Given the description of an element on the screen output the (x, y) to click on. 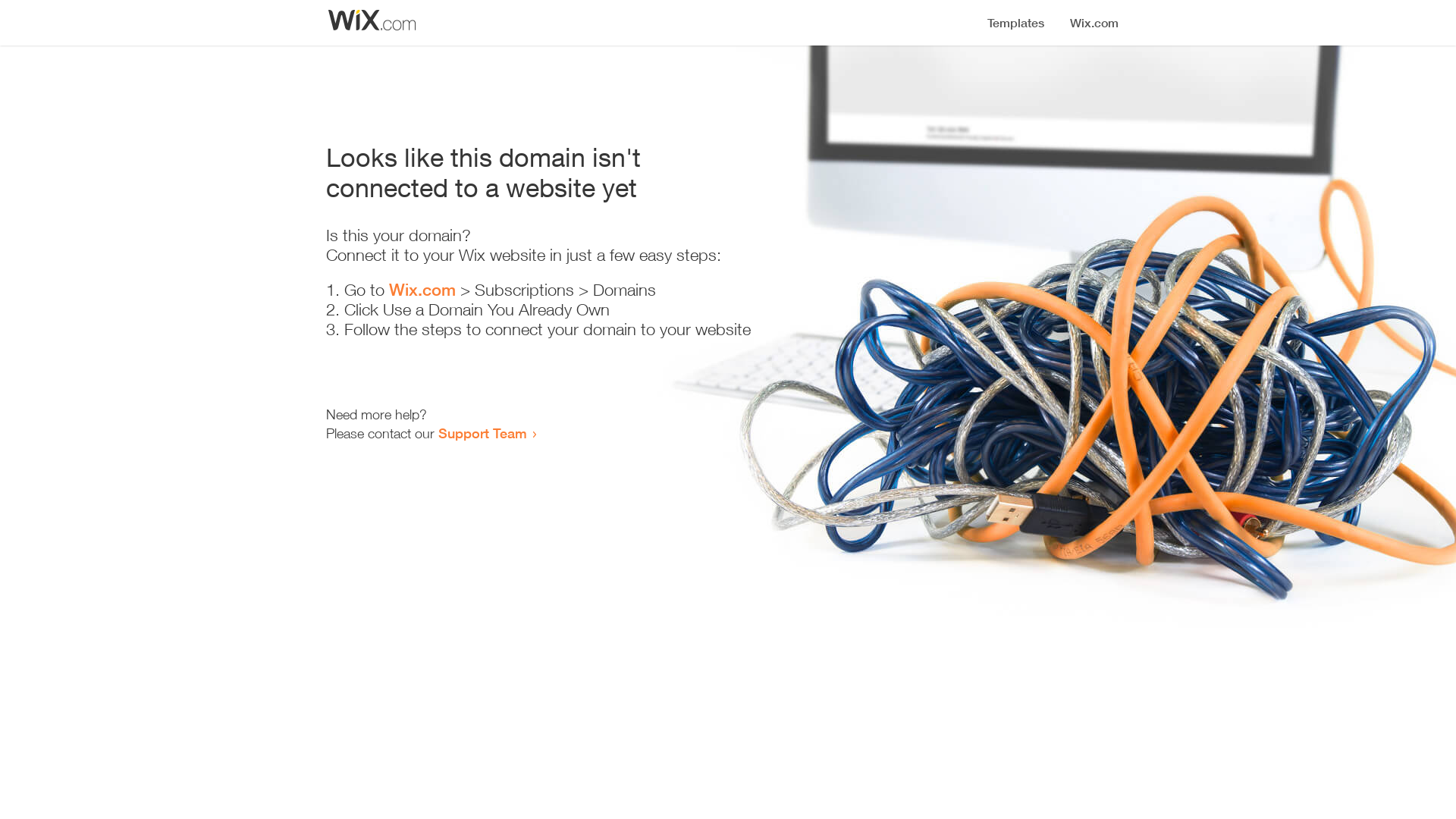
Wix.com Element type: text (422, 289)
Support Team Element type: text (482, 432)
